Given the description of an element on the screen output the (x, y) to click on. 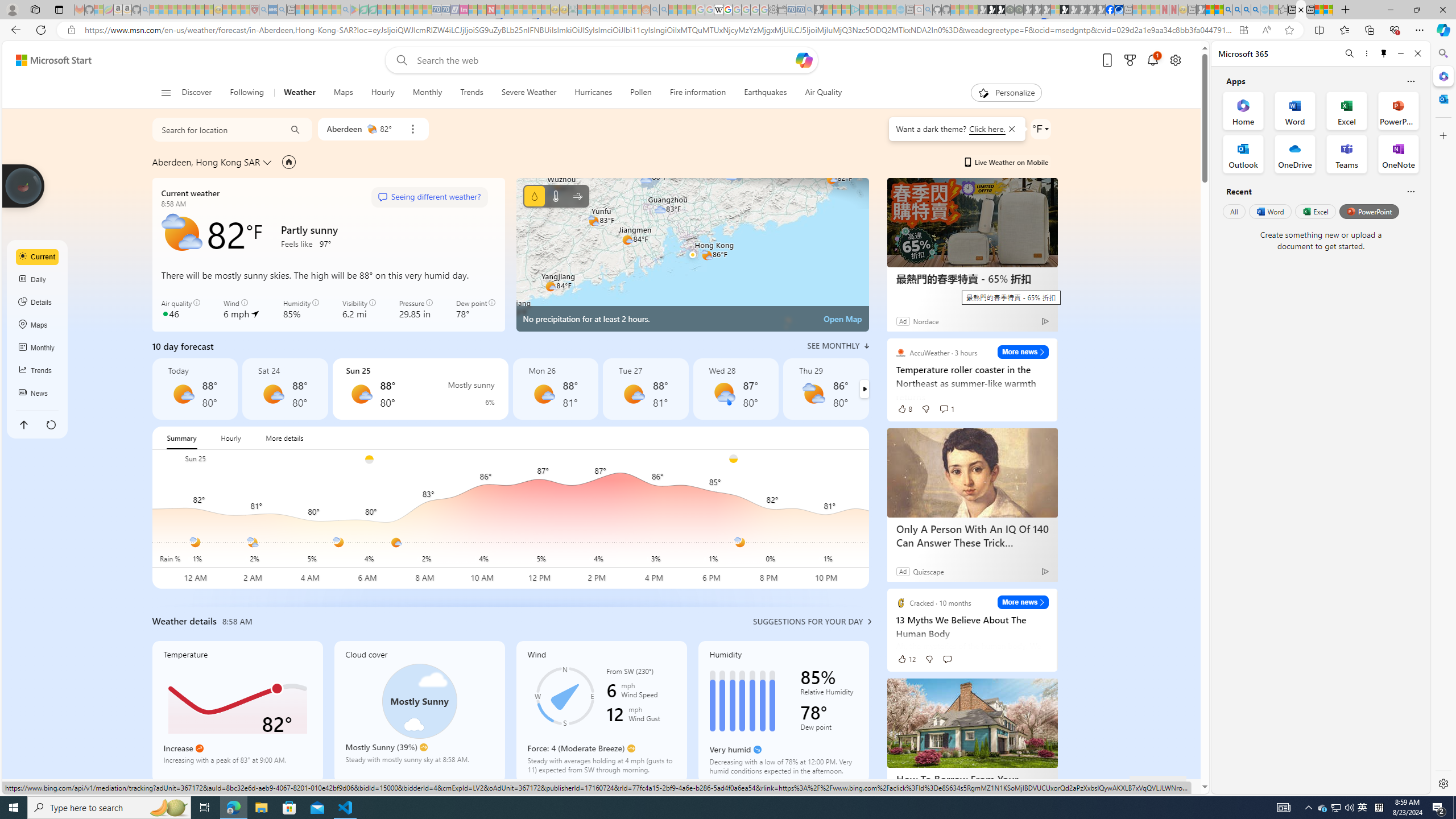
Air Quality (824, 92)
AirNow.gov (1118, 9)
Hourly (382, 92)
Future Focus Report 2024 - Sleeping (1018, 9)
Unpin side pane (1383, 53)
All (1233, 210)
Relative Humidity (828, 693)
